Given the description of an element on the screen output the (x, y) to click on. 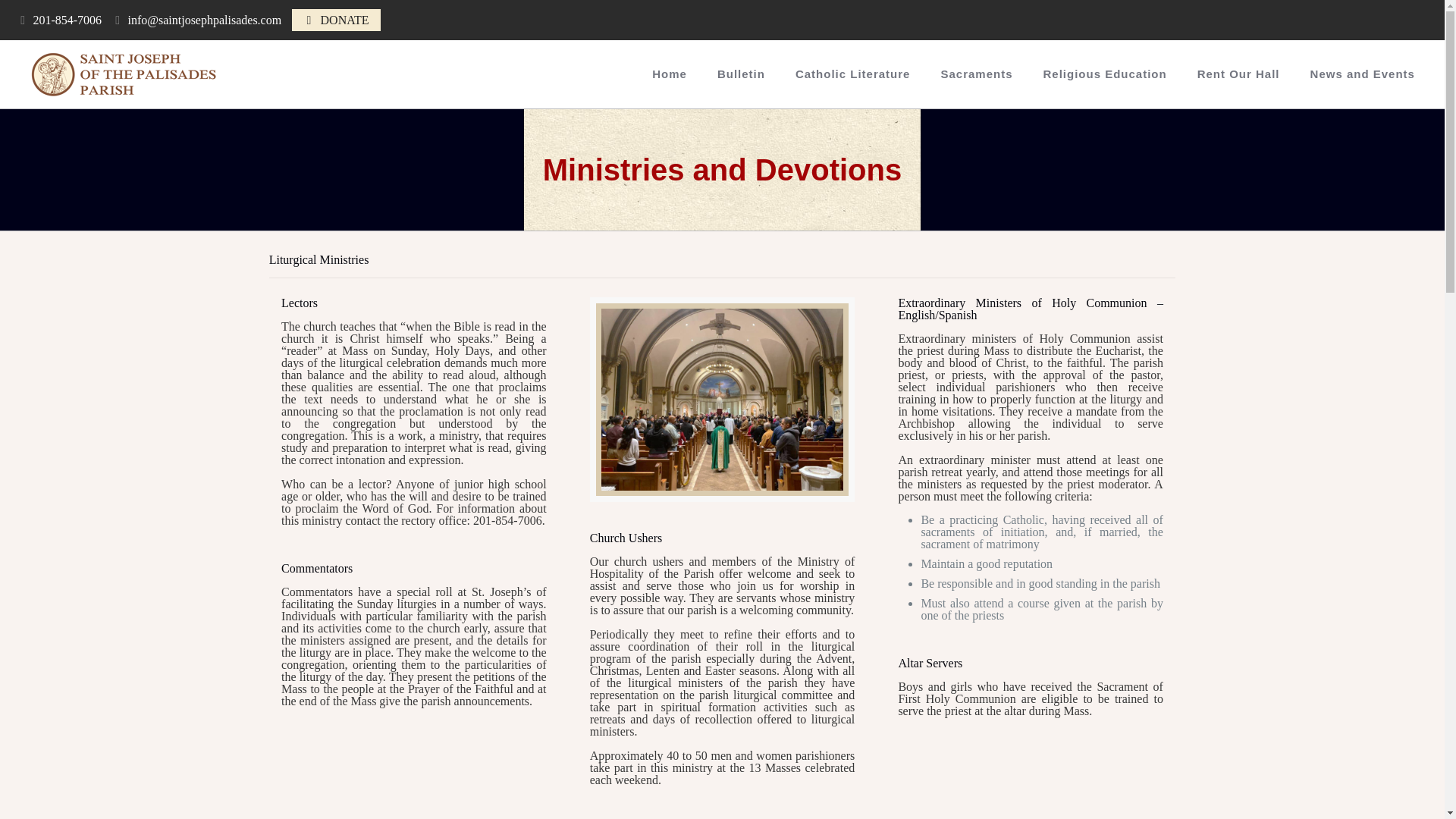
Catholic Literature (853, 74)
Sacraments (975, 74)
St. Joseph Of The Palisades Parish (123, 74)
Rent Our Hall (1238, 74)
201-854-7006 (66, 19)
Religious Education (1104, 74)
News and Events (1362, 74)
DONATE (344, 19)
Home (669, 74)
Bulletin (740, 74)
